Given the description of an element on the screen output the (x, y) to click on. 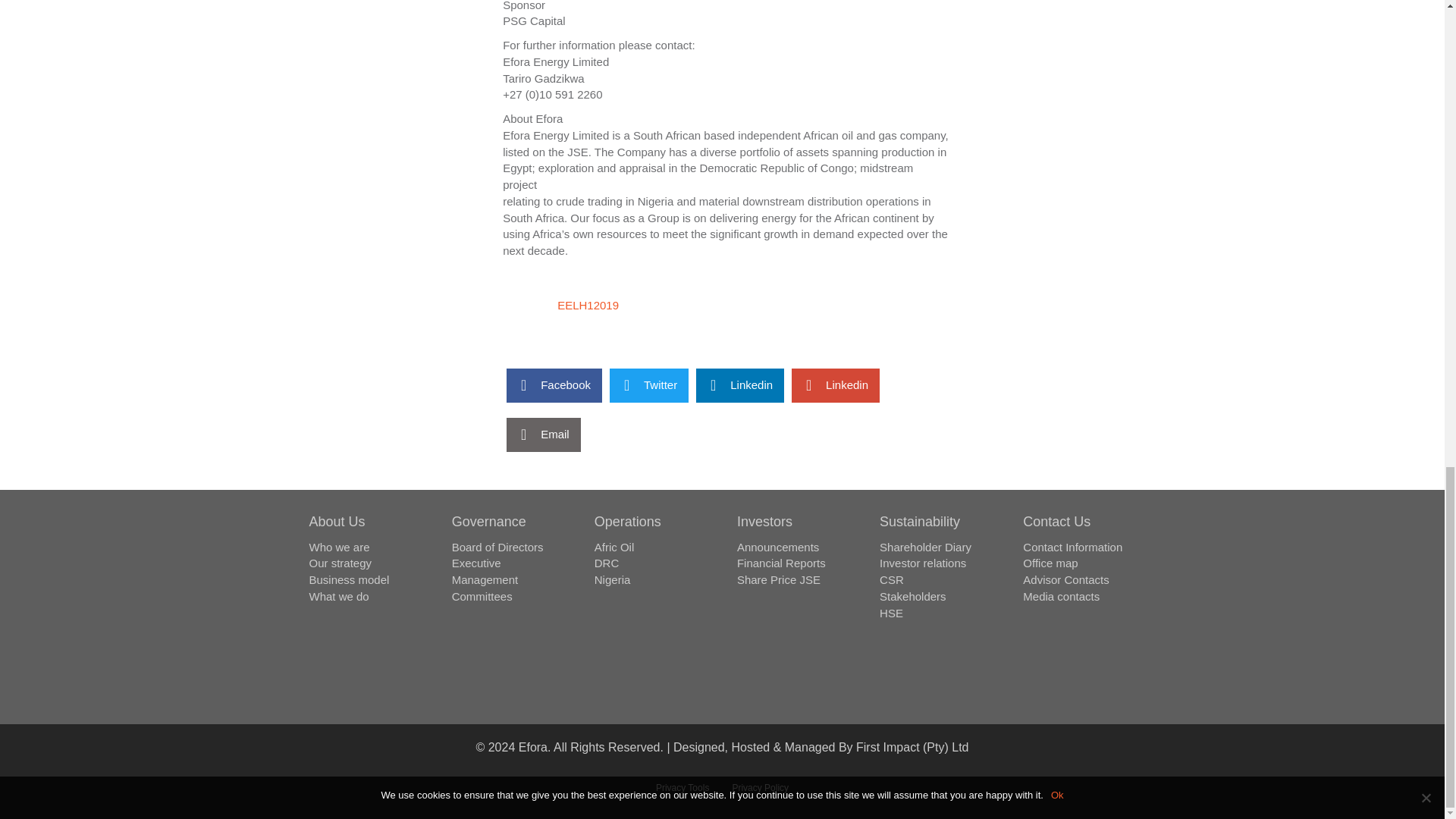
Whistleblower (722, 683)
